Given the description of an element on the screen output the (x, y) to click on. 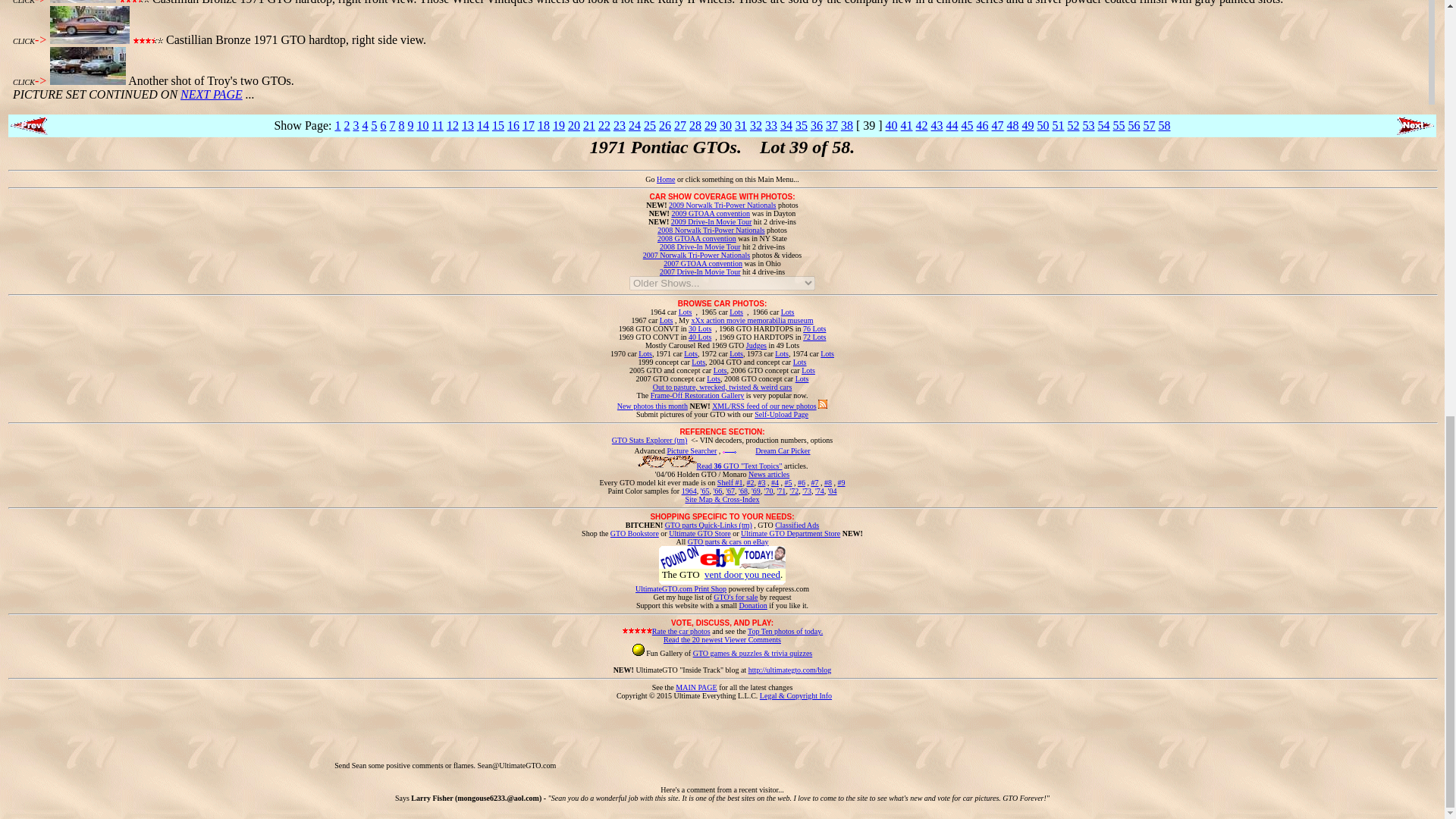
Advertisement (833, 734)
